Given the description of an element on the screen output the (x, y) to click on. 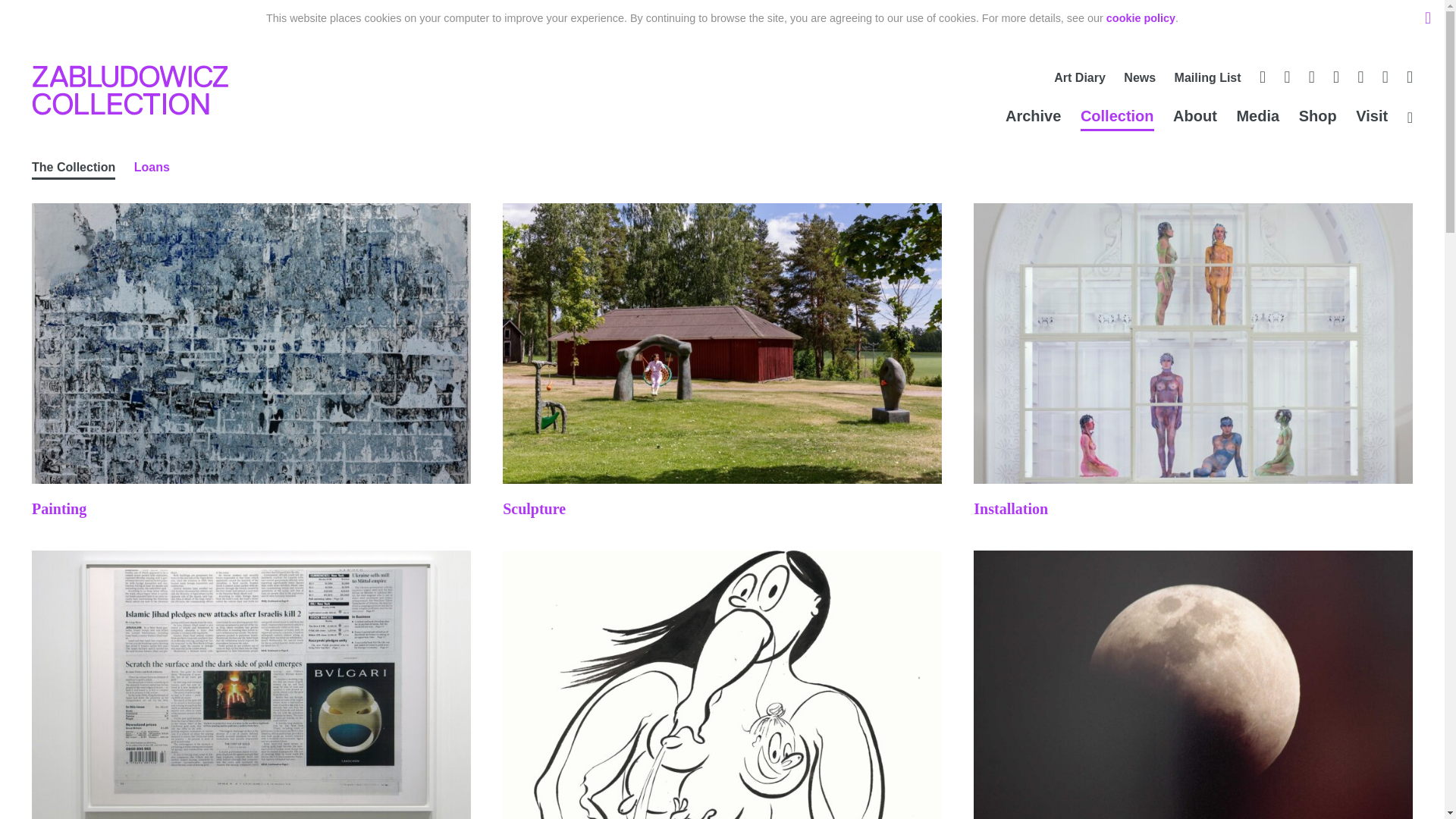
Art Diary (1079, 80)
Collection (1117, 119)
Archive (1033, 119)
Shop (1317, 119)
cookie policy (1140, 18)
Media (1257, 119)
About (1195, 119)
Mailing List (1207, 80)
News (1140, 80)
Visit (1371, 119)
